Given the description of an element on the screen output the (x, y) to click on. 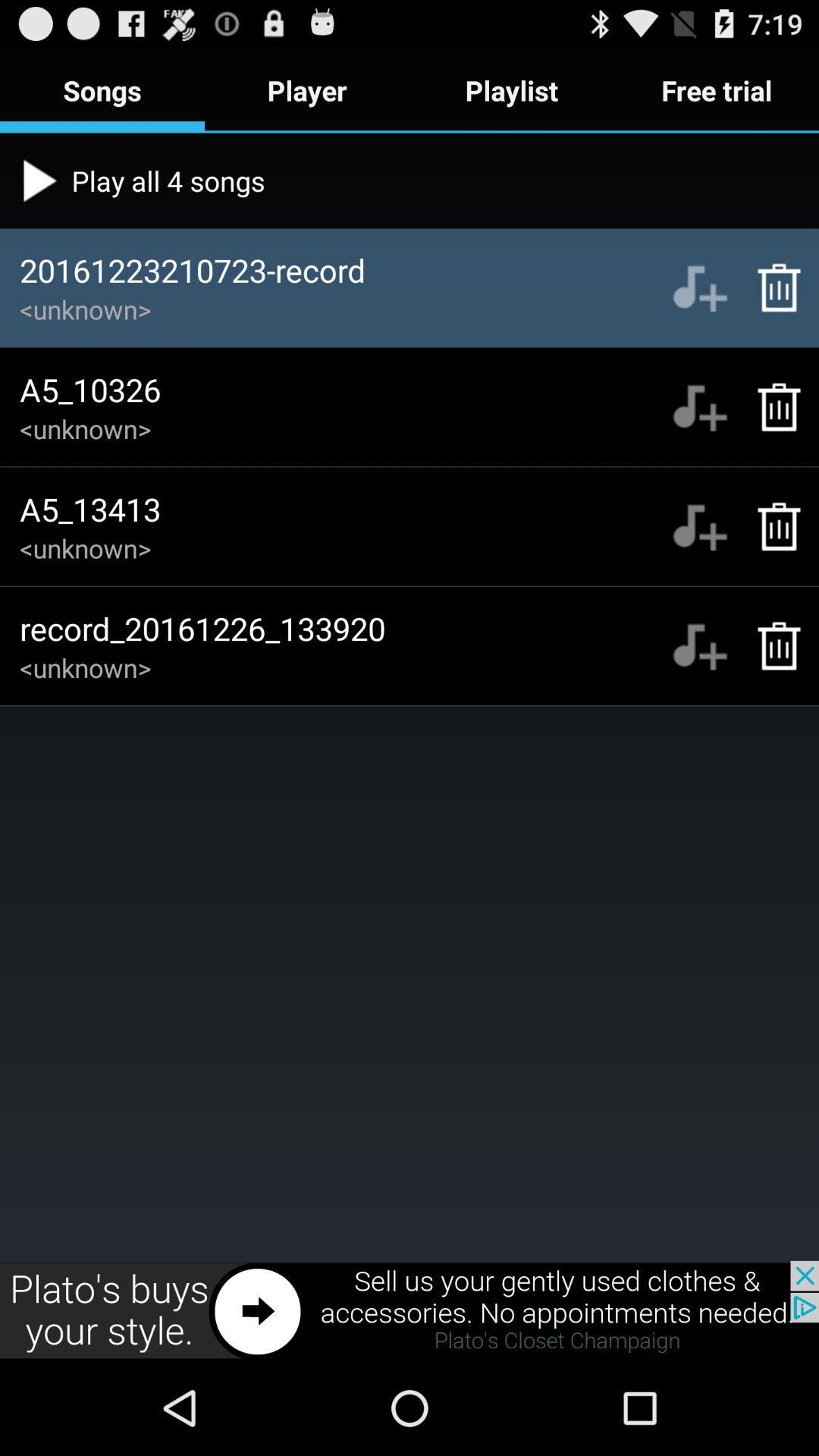
a5_10326 trash icon (771, 407)
